Given the description of an element on the screen output the (x, y) to click on. 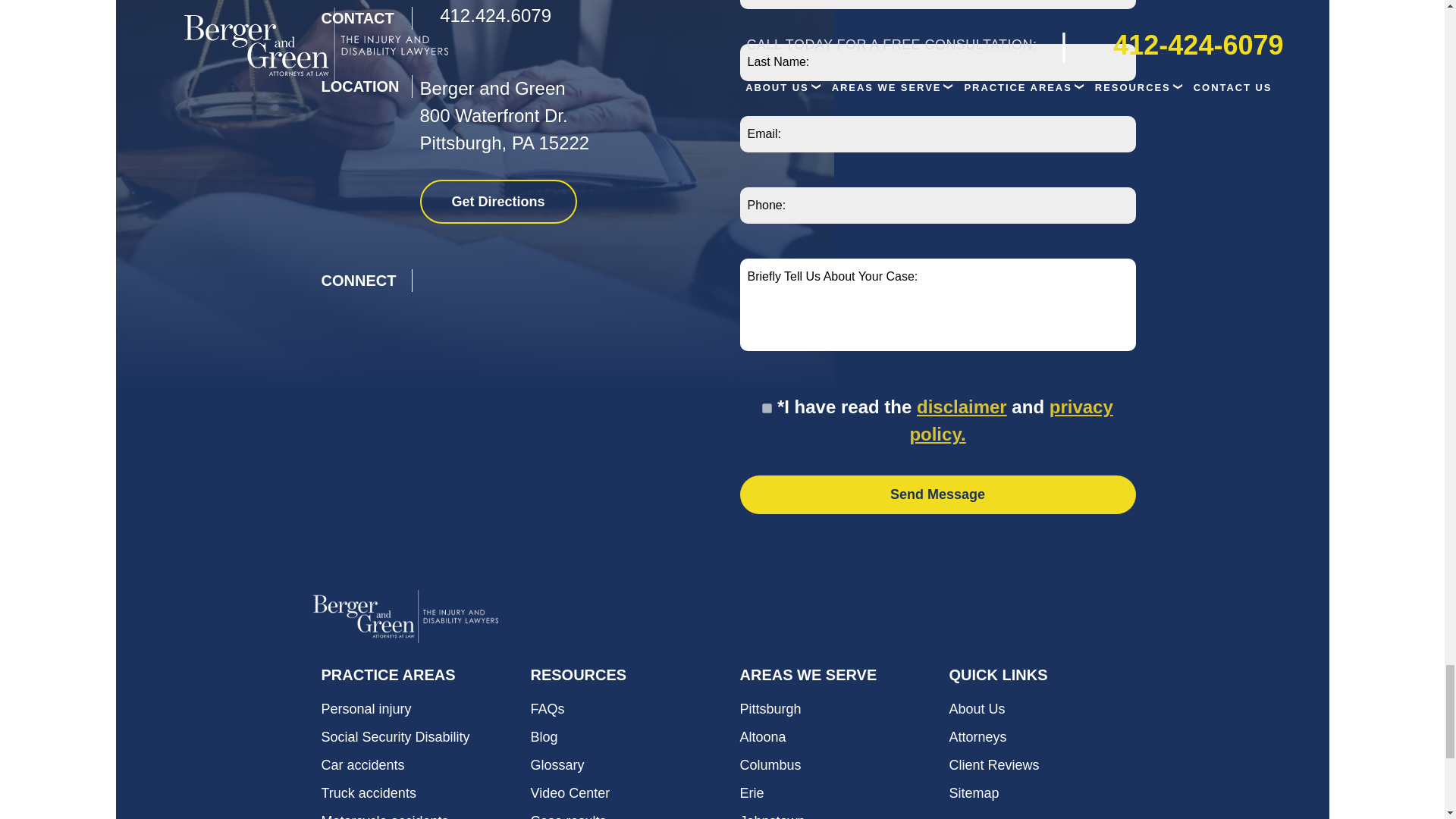
1 (766, 408)
Get Directions (498, 201)
Send Message (937, 494)
